Given the description of an element on the screen output the (x, y) to click on. 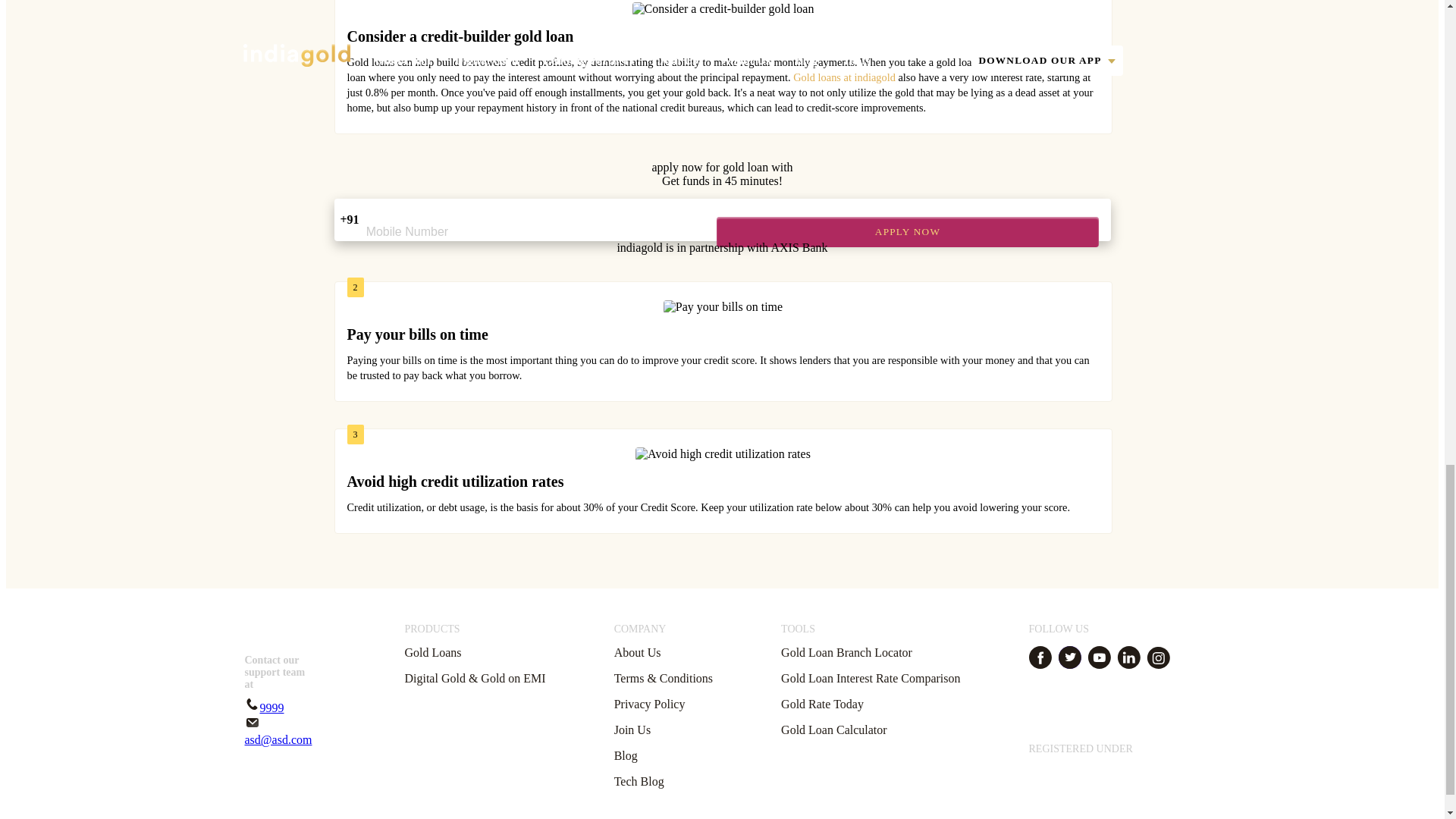
Tech Blog (638, 781)
Blog (625, 755)
Gold Loan Branch Locator (846, 653)
9999 (263, 707)
Gold Loan Calculator (833, 730)
APPLY NOW (906, 232)
Privacy Policy (649, 704)
Join Us (632, 730)
Gold Loan Interest Rate Comparison (869, 678)
Gold Rate Today (821, 704)
Gold Loans (432, 653)
About Us (637, 653)
